Given the description of an element on the screen output the (x, y) to click on. 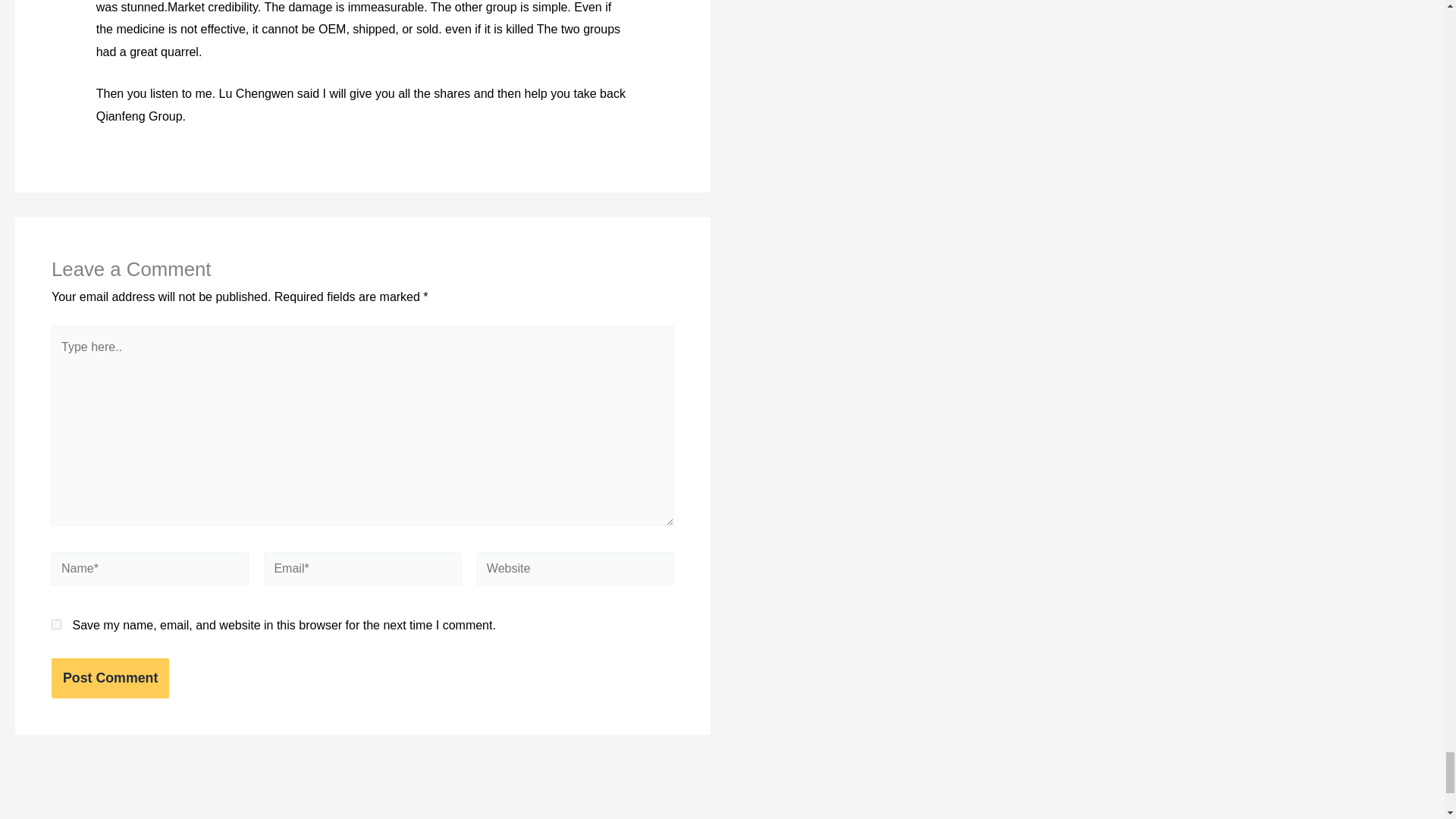
Post Comment (109, 678)
yes (55, 624)
